Given the description of an element on the screen output the (x, y) to click on. 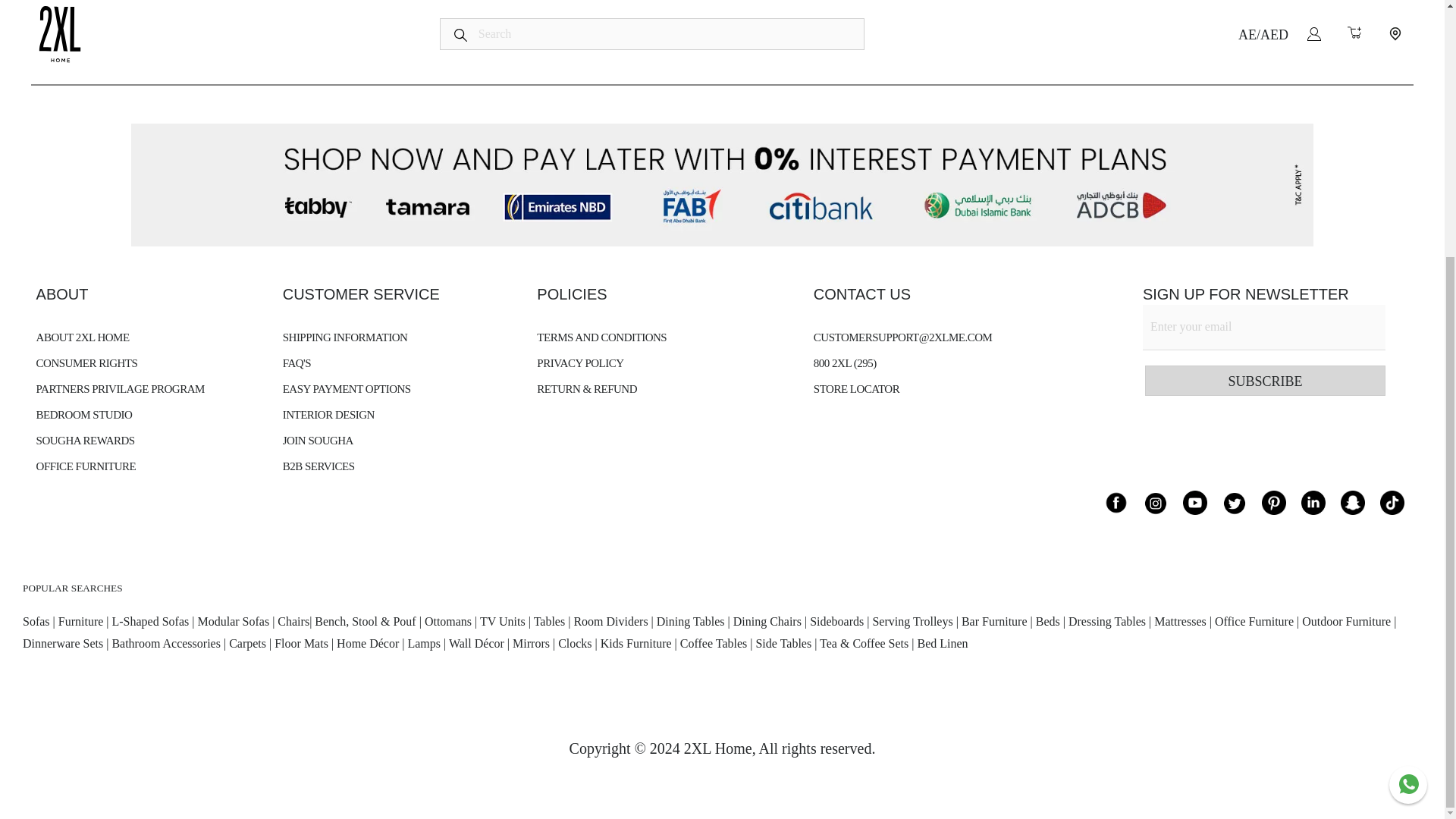
Subscribe (1265, 380)
